Given the description of an element on the screen output the (x, y) to click on. 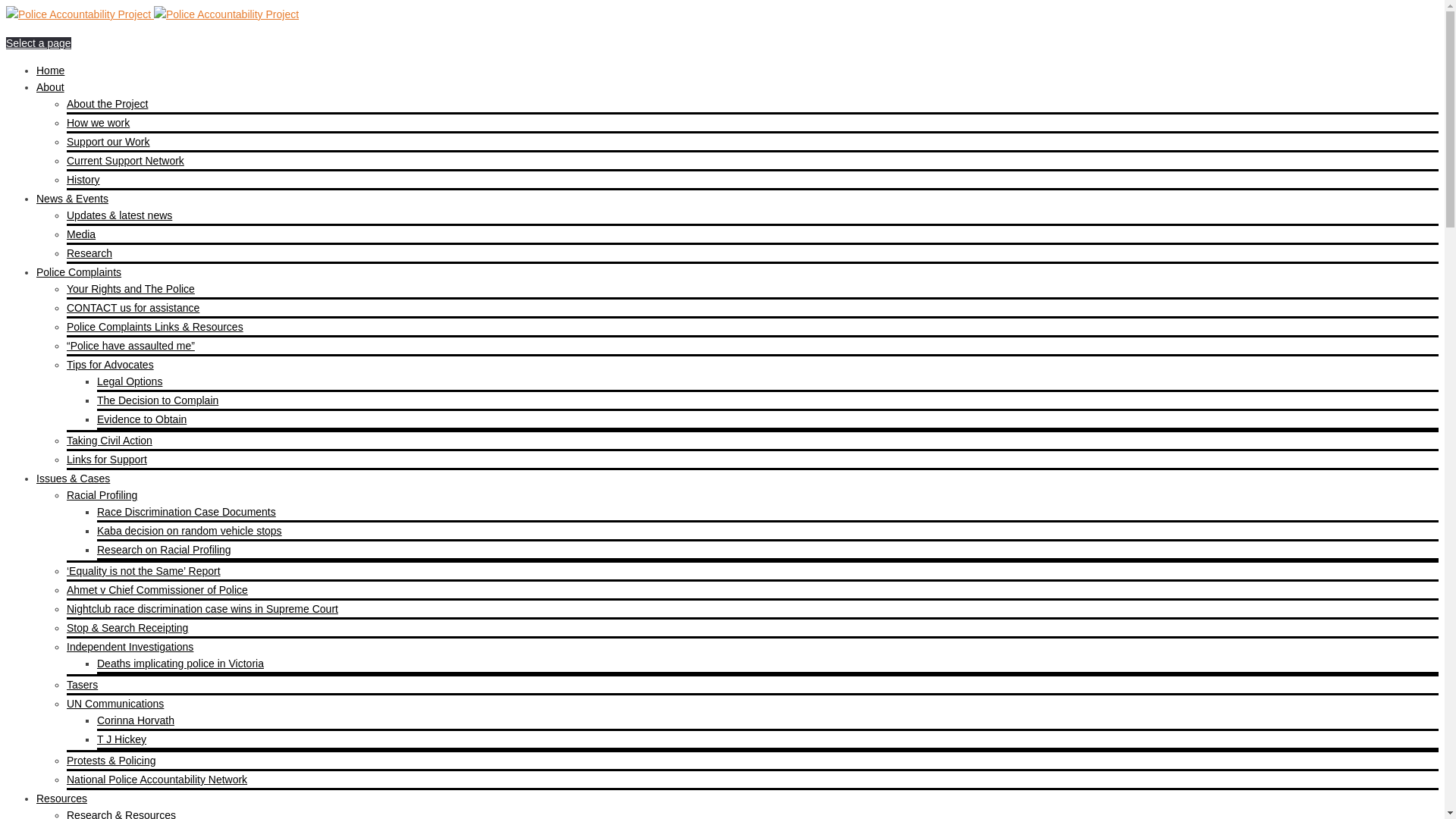
Links for Support Element type: text (106, 459)
Protests & Policing Element type: text (111, 760)
Police Complaints Links & Resources Element type: text (154, 326)
News & Events Element type: text (72, 198)
Resources Element type: text (61, 798)
Updates & latest news Element type: text (119, 215)
T J Hickey Element type: text (121, 739)
Select a page Element type: text (38, 43)
UN Communications Element type: text (114, 703)
Race Discrimination Case Documents Element type: text (186, 511)
Home Element type: text (50, 70)
Tips for Advocates Element type: text (109, 364)
The Decision to Complain Element type: text (157, 400)
CONTACT us for assistance Element type: text (132, 307)
Kaba decision on random vehicle stops Element type: text (189, 530)
Corinna Horvath Element type: text (135, 720)
Evidence to Obtain Element type: text (141, 419)
How we work Element type: text (97, 122)
Nightclub race discrimination case wins in Supreme Court Element type: text (202, 608)
Issues & Cases Element type: text (72, 478)
Tasers Element type: text (81, 684)
Legal Options Element type: text (129, 381)
Research Element type: text (89, 253)
Your Rights and The Police Element type: text (130, 288)
Support our Work Element type: text (107, 141)
Stop & Search Receipting Element type: text (127, 627)
Racial Profiling Element type: text (101, 495)
About Element type: text (50, 87)
Deaths implicating police in Victoria Element type: text (180, 663)
Current Support Network Element type: text (125, 160)
Taking Civil Action Element type: text (109, 440)
About the Project Element type: text (106, 103)
History Element type: text (83, 179)
Media Element type: text (80, 234)
Research on Racial Profiling Element type: text (164, 549)
Independent Investigations Element type: text (129, 646)
National Police Accountability Network Element type: text (156, 779)
Ahmet v Chief Commissioner of Police Element type: text (156, 589)
Police Complaints Element type: text (78, 272)
